Given the description of an element on the screen output the (x, y) to click on. 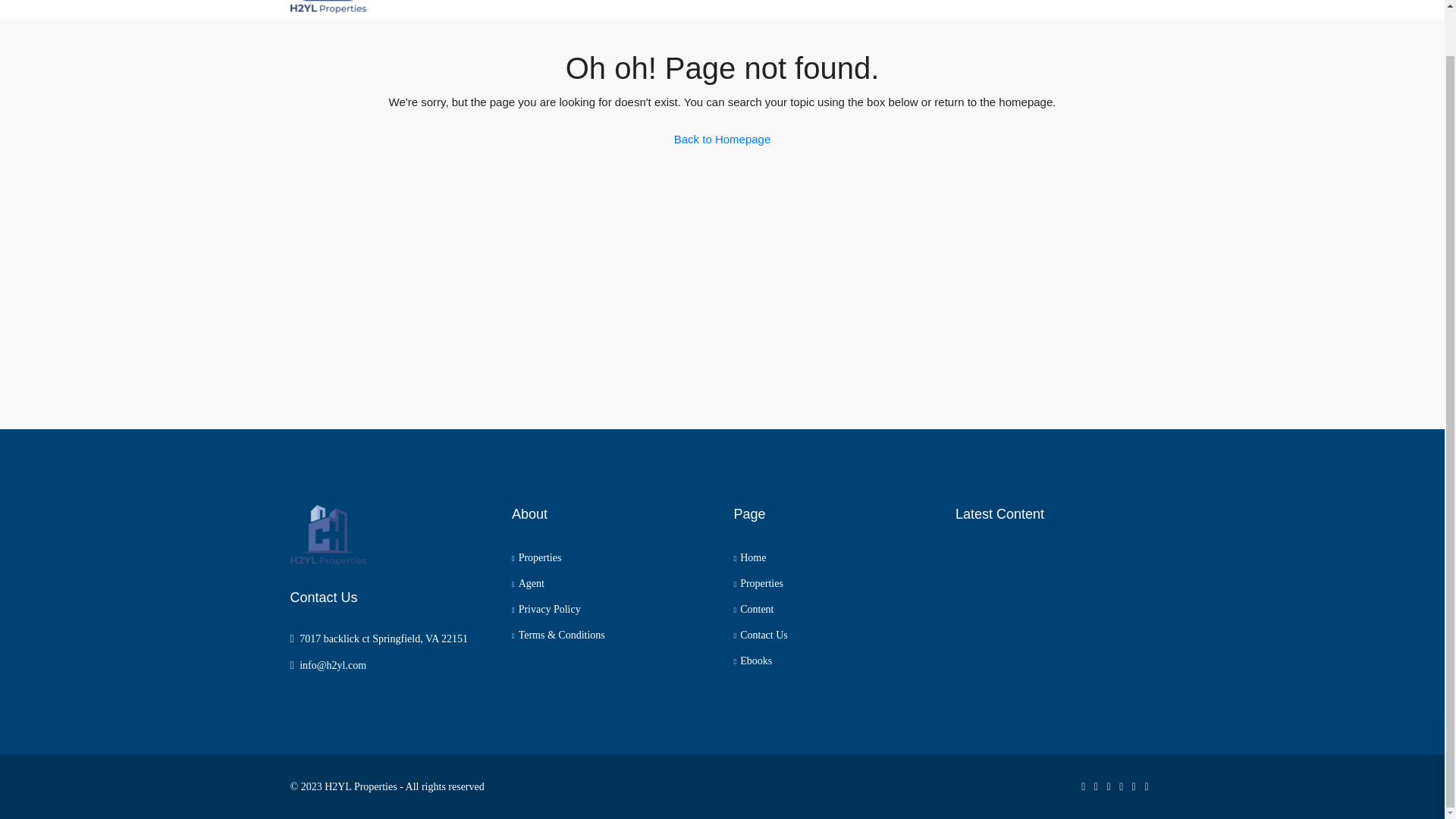
Agent (949, 9)
Contact Us (1021, 9)
Agent (528, 583)
Home (678, 9)
Content (887, 9)
Privacy Policy (546, 609)
Properties (747, 9)
Content (753, 609)
Home (750, 557)
Ebooks (753, 660)
Back to Homepage (722, 139)
Ebooks (821, 9)
Properties (536, 557)
Contact Us (760, 634)
Properties (758, 583)
